Given the description of an element on the screen output the (x, y) to click on. 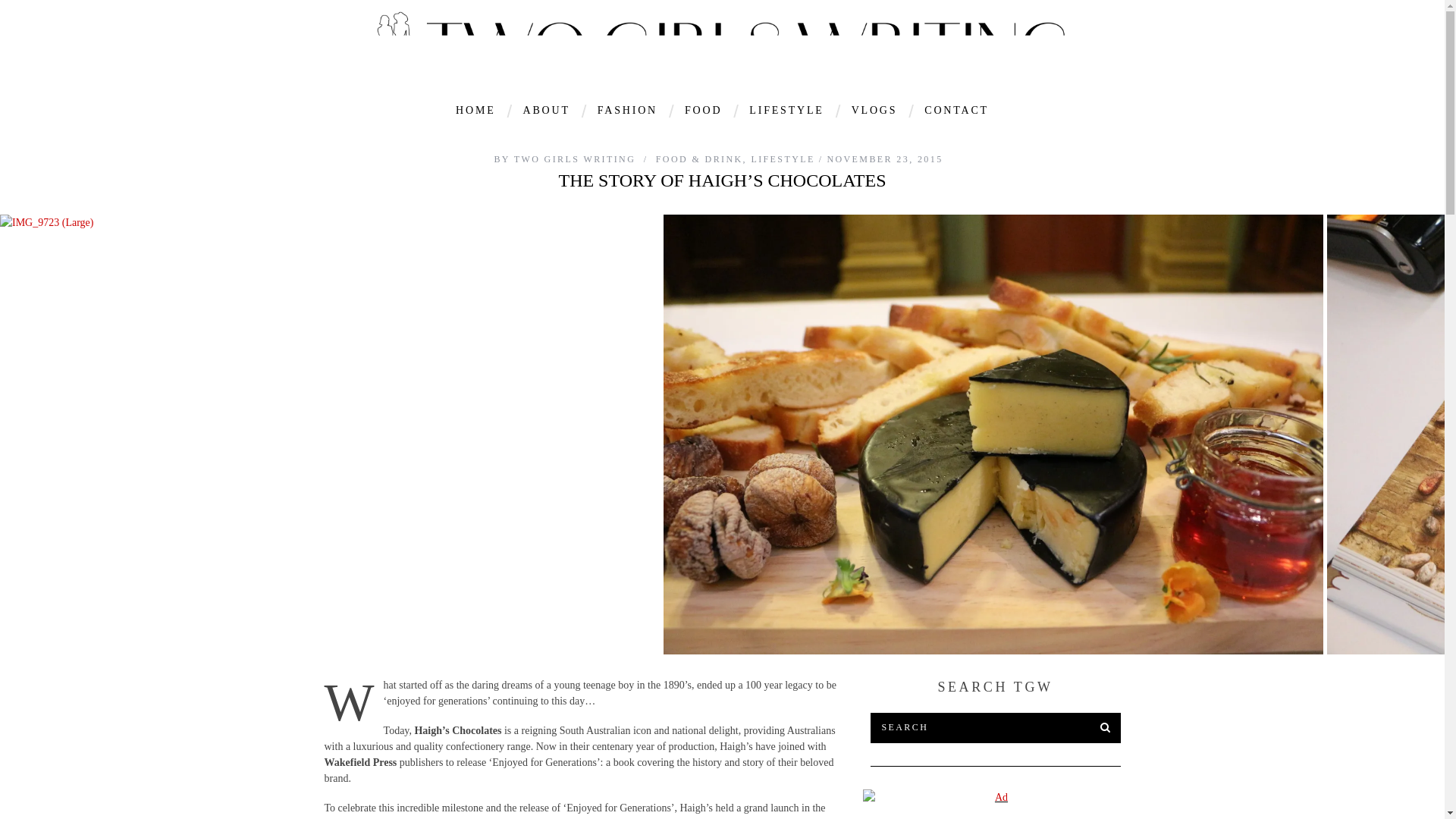
FASHION (627, 110)
VLOGS (874, 110)
Search (995, 727)
LIFESTYLE (786, 110)
ABOUT (546, 110)
FOOD (702, 110)
HOME (475, 110)
